Given the description of an element on the screen output the (x, y) to click on. 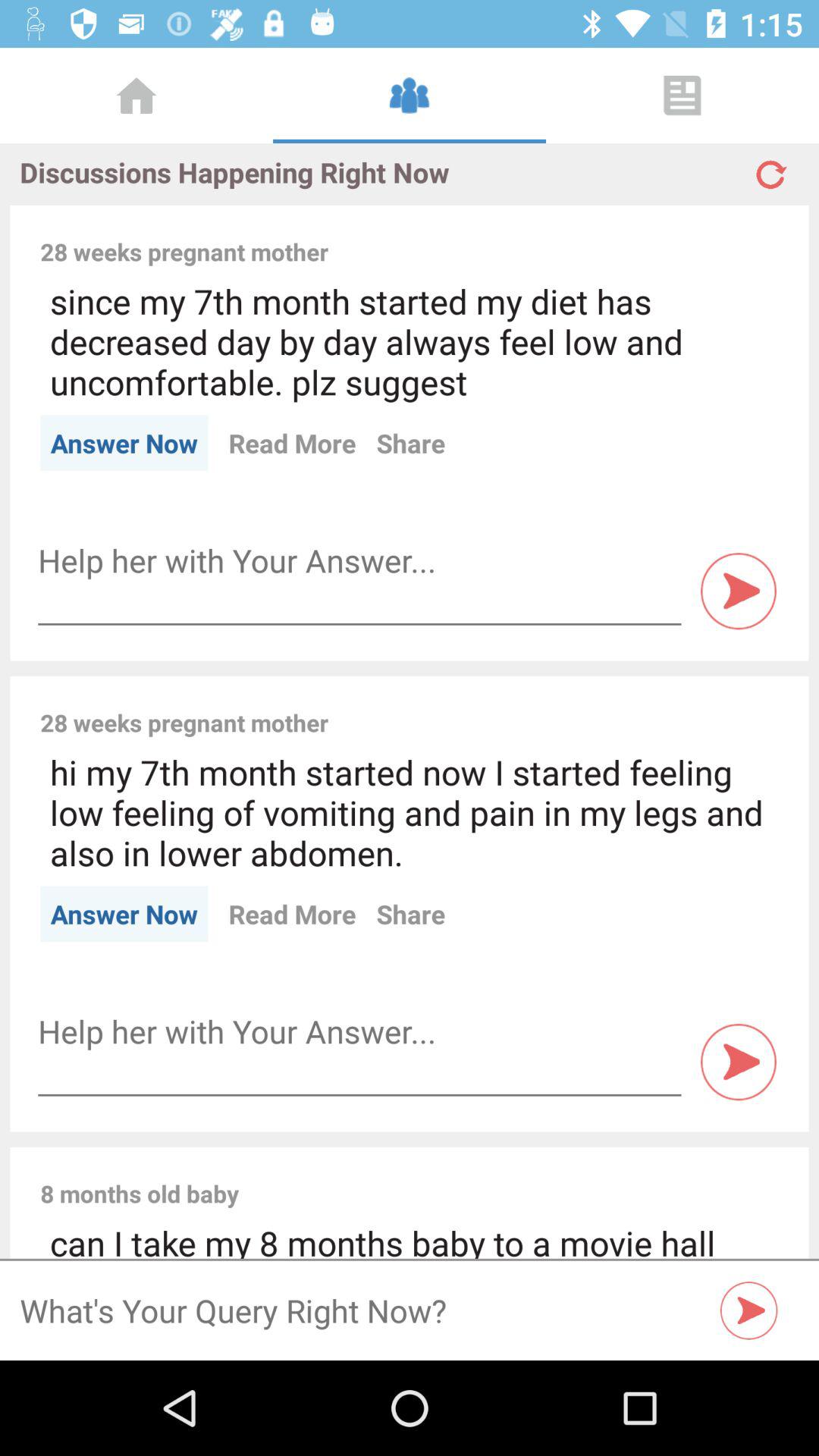
box of text for help the user (359, 560)
